Given the description of an element on the screen output the (x, y) to click on. 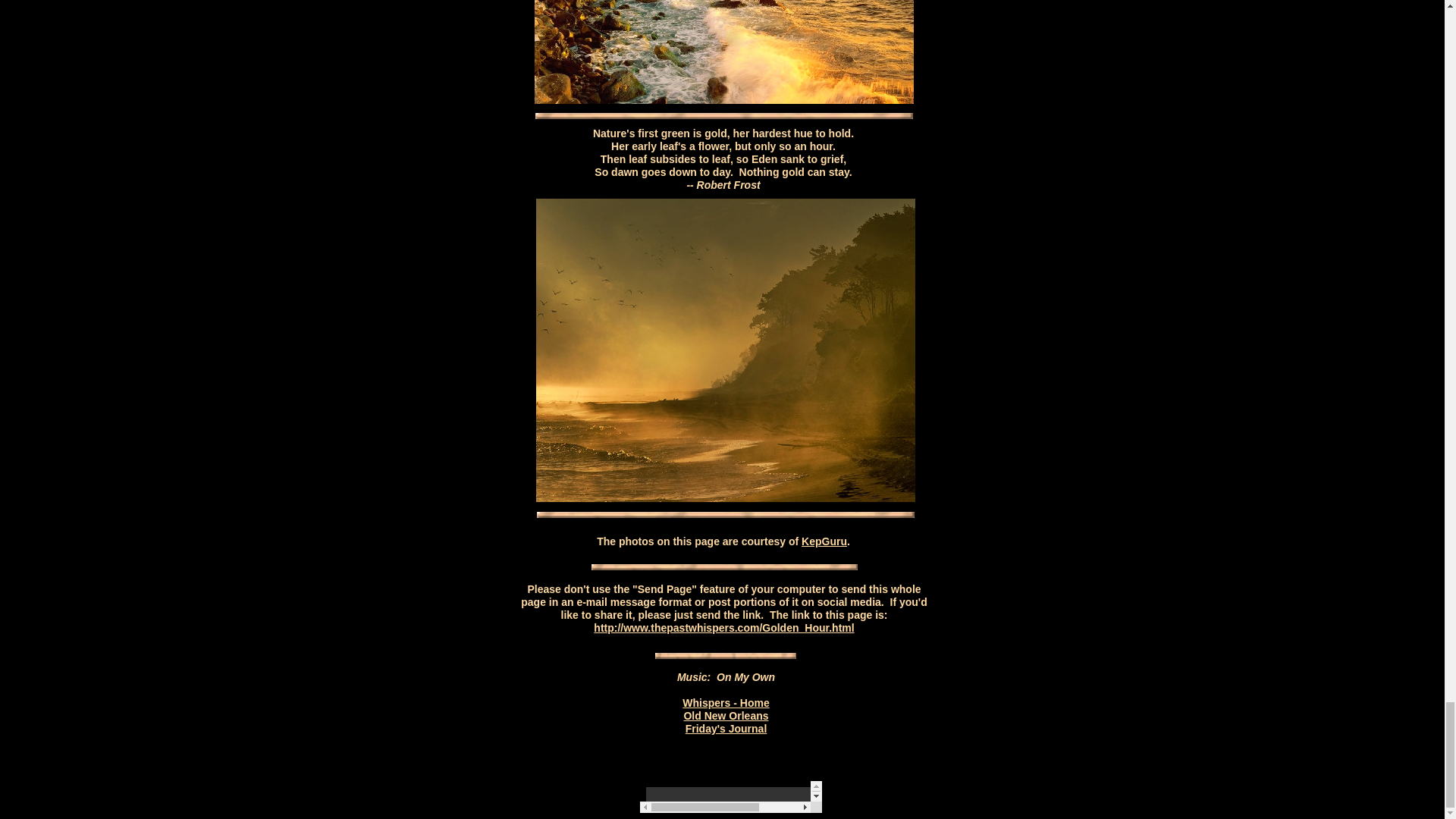
Friday's Journal (726, 727)
KepGuru (824, 540)
Old New Orleans (725, 715)
Whispers - Home (725, 702)
